Given the description of an element on the screen output the (x, y) to click on. 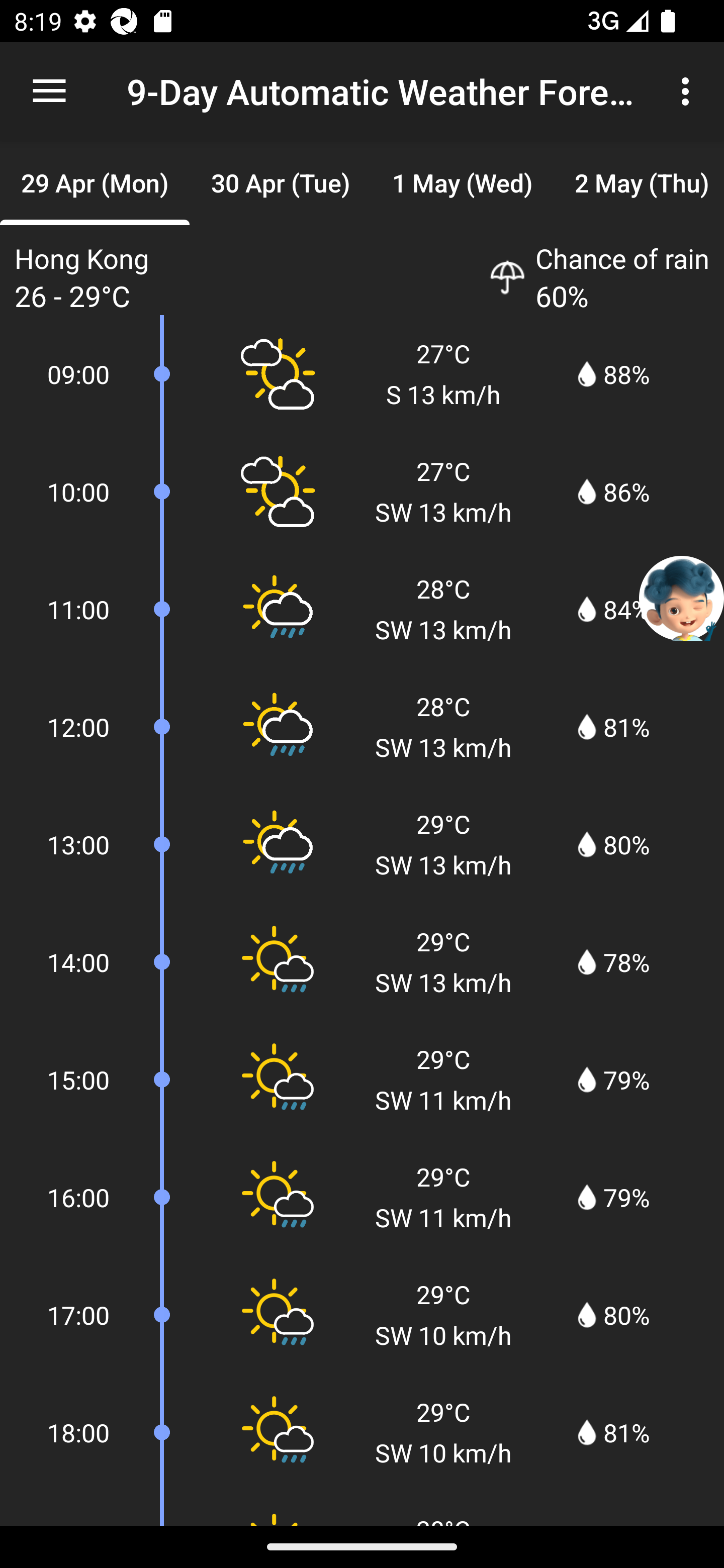
Navigate up (49, 91)
More options (688, 90)
30 Apr (Tue) (279, 183)
1 May (Wed) (461, 183)
2 May (Thu) (638, 183)
Chatbot (681, 598)
